Given the description of an element on the screen output the (x, y) to click on. 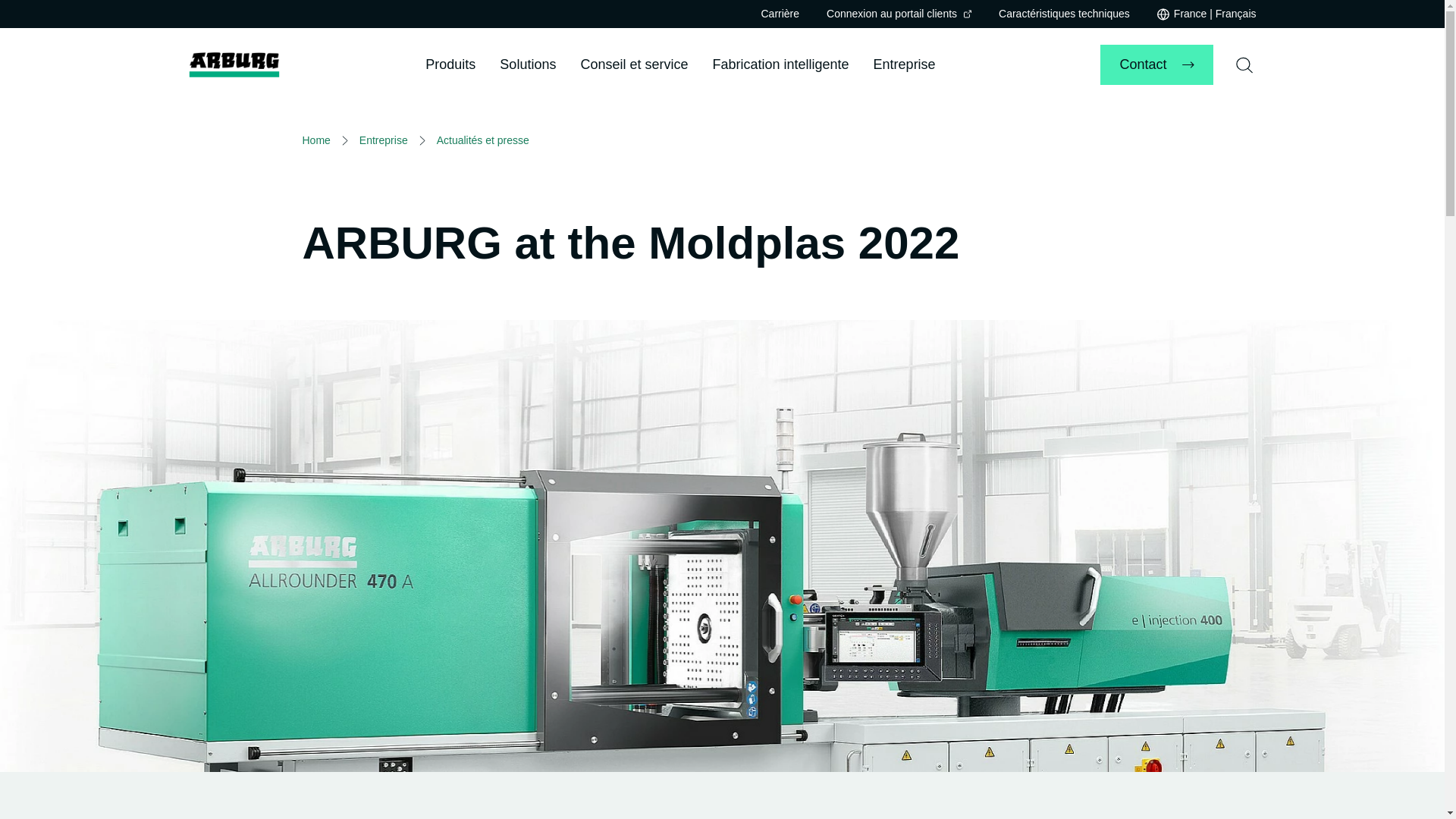
Connexion au portail clients (899, 13)
Connexion au portail clients (899, 13)
